Given the description of an element on the screen output the (x, y) to click on. 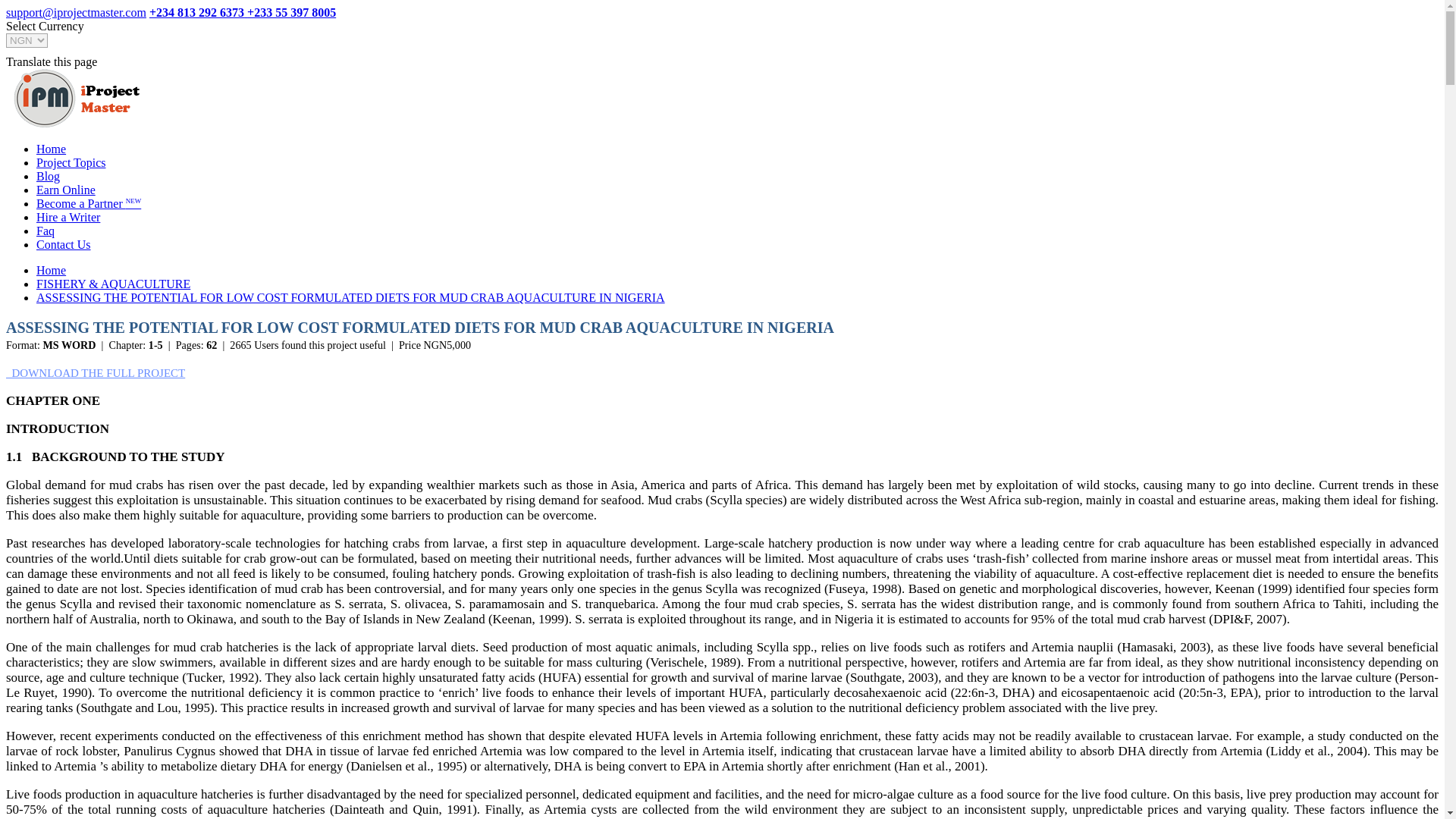
Project Topics (77, 97)
Home (50, 148)
Become a Partner NEW (88, 203)
Home (50, 269)
Contact Us (63, 244)
  DOWNLOAD THE FULL PROJECT (94, 372)
Blog (47, 175)
Earn Online (66, 189)
Hire a Writer (68, 216)
